Given the description of an element on the screen output the (x, y) to click on. 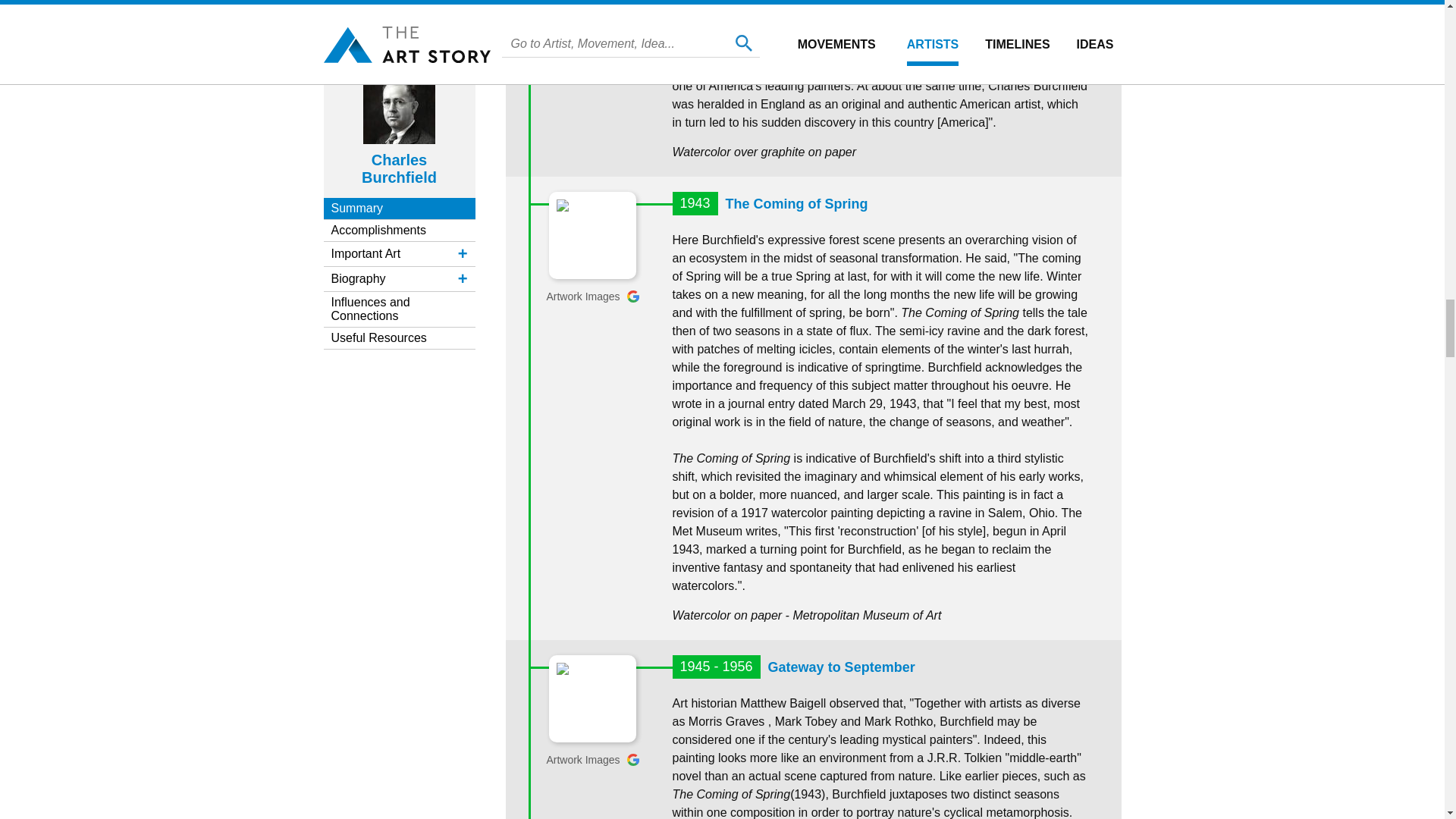
Artwork Images (592, 759)
Artwork Images (592, 296)
